Given the description of an element on the screen output the (x, y) to click on. 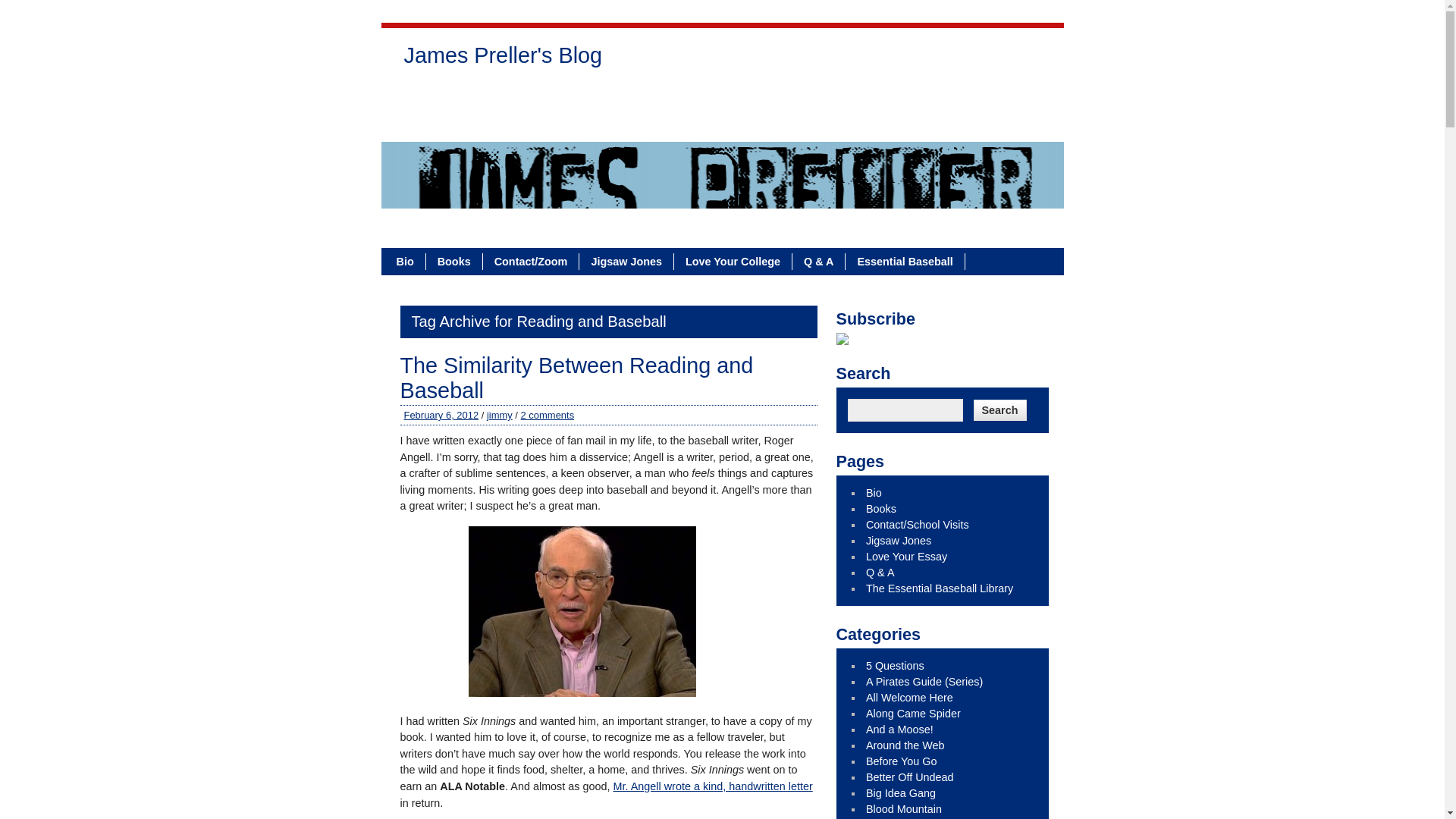
My upcoming Young Adult Novel, Spring 2012 (901, 761)
Essential Baseball (904, 261)
Jigsaw Jones (626, 261)
Love Your Essay (783, 96)
Mr. Angell wrote a kind, handwritten letter (712, 786)
The Similarity Between Reading and Baseball (577, 377)
Love Your College (733, 261)
Books (454, 261)
Jigsaw Jones (680, 96)
James Preller's Blog (503, 59)
Bio (405, 261)
2 comments (548, 414)
February 6, 2012 (441, 414)
The Essential Baseball Library (491, 124)
Posts by jimmy (499, 414)
